Given the description of an element on the screen output the (x, y) to click on. 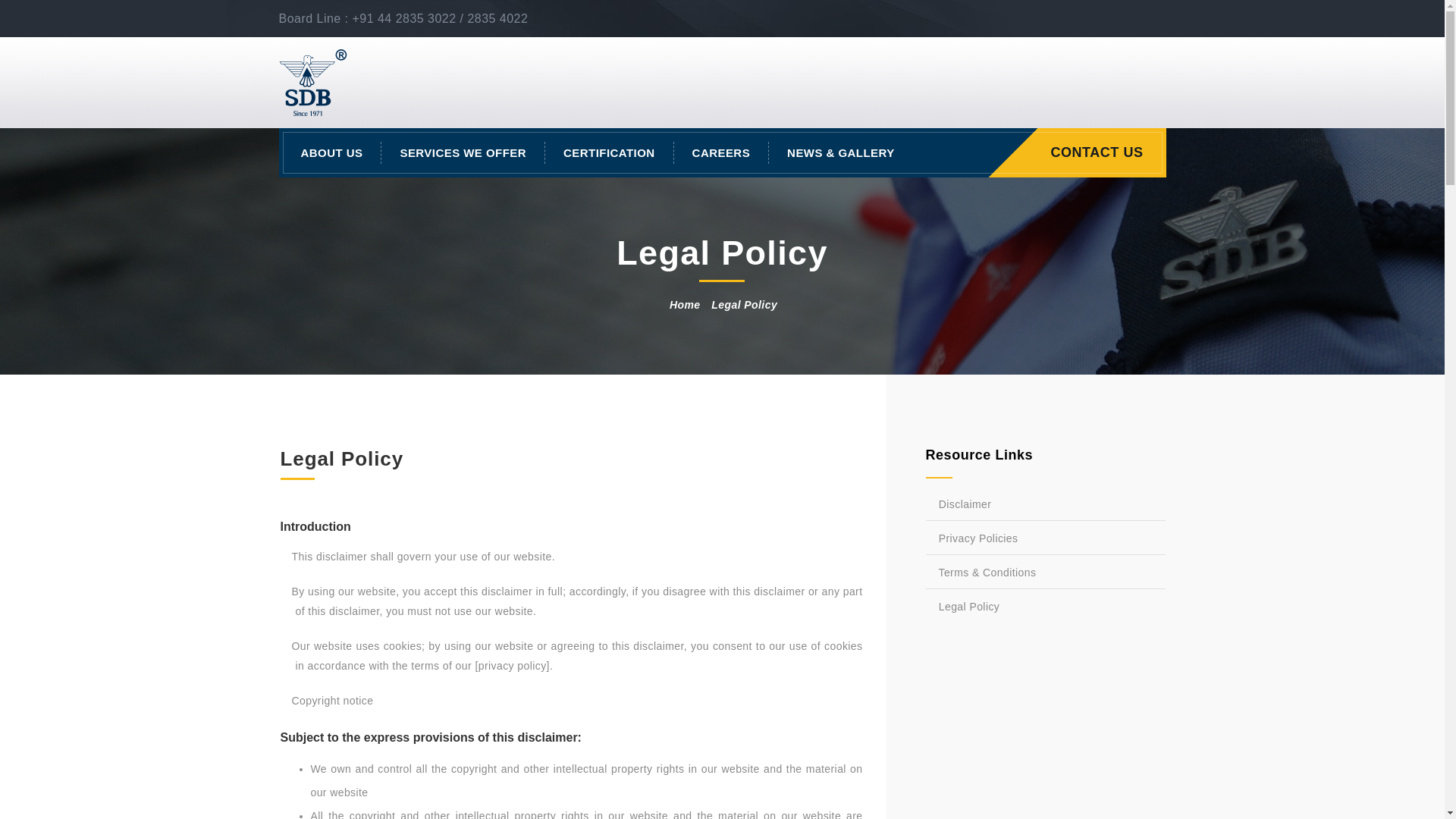
    Privacy Policies (1045, 539)
Home (684, 304)
ABOUT US (331, 152)
CONTACT US (1101, 152)
SERVICES WE OFFER (462, 152)
    Disclaimer (1045, 504)
CERTIFICATION (609, 152)
    Legal Policy (1045, 606)
CAREERS (722, 152)
